Given the description of an element on the screen output the (x, y) to click on. 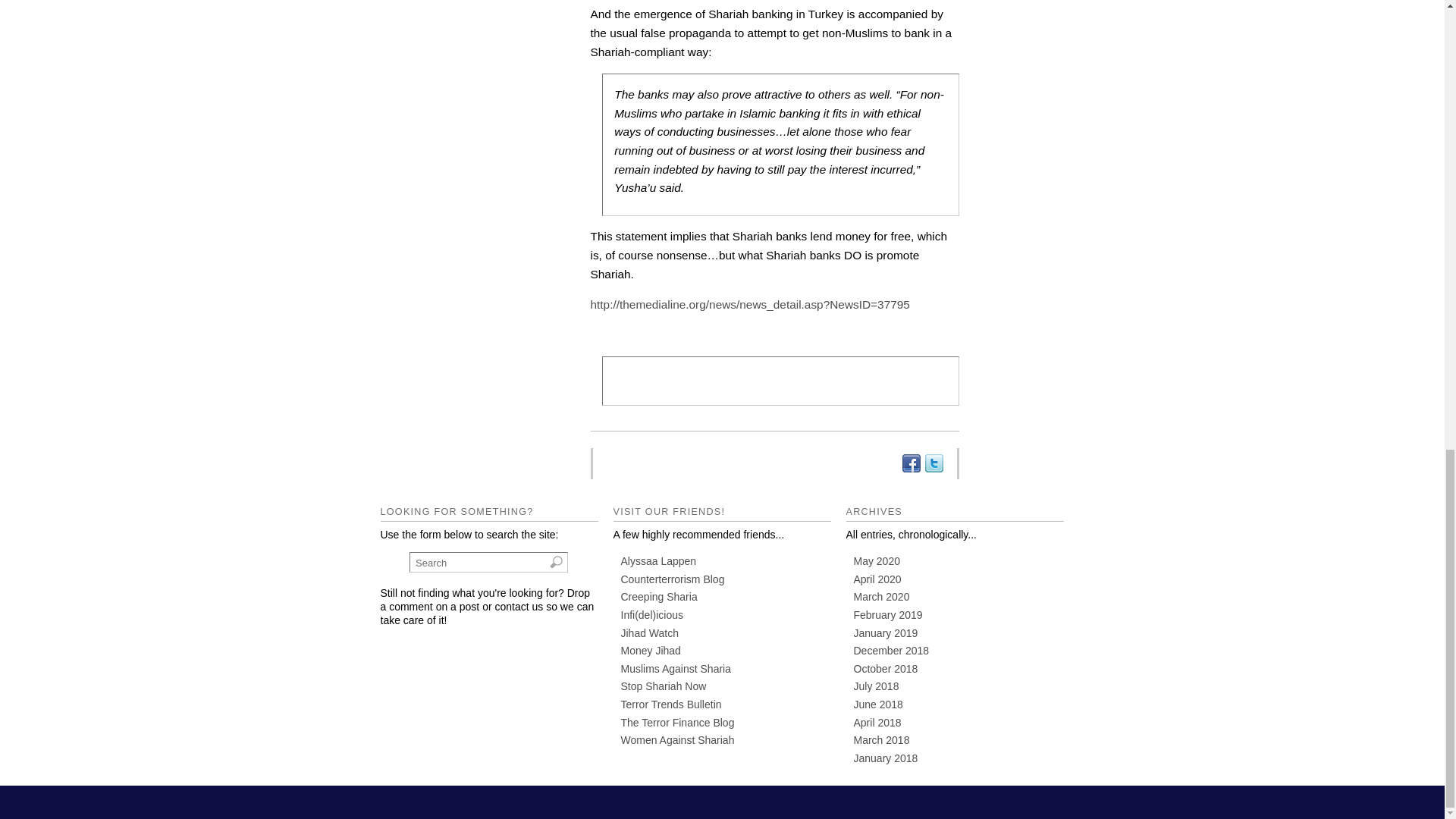
July 2018 (876, 686)
April 2018 (877, 722)
The Blog Exposing Jihadist Financing (649, 650)
Creeping Sharia (658, 596)
Terror Trends Bulletin (670, 704)
March 2020 (881, 596)
The Terror Finance Blog (676, 722)
Search (488, 562)
February 2019 (888, 614)
Share on Facebook (910, 463)
April 2020 (877, 579)
October 2018 (885, 668)
Money Jihad (649, 650)
Stop Shariah Now (663, 686)
Muslims Against Sharia (675, 668)
